Given the description of an element on the screen output the (x, y) to click on. 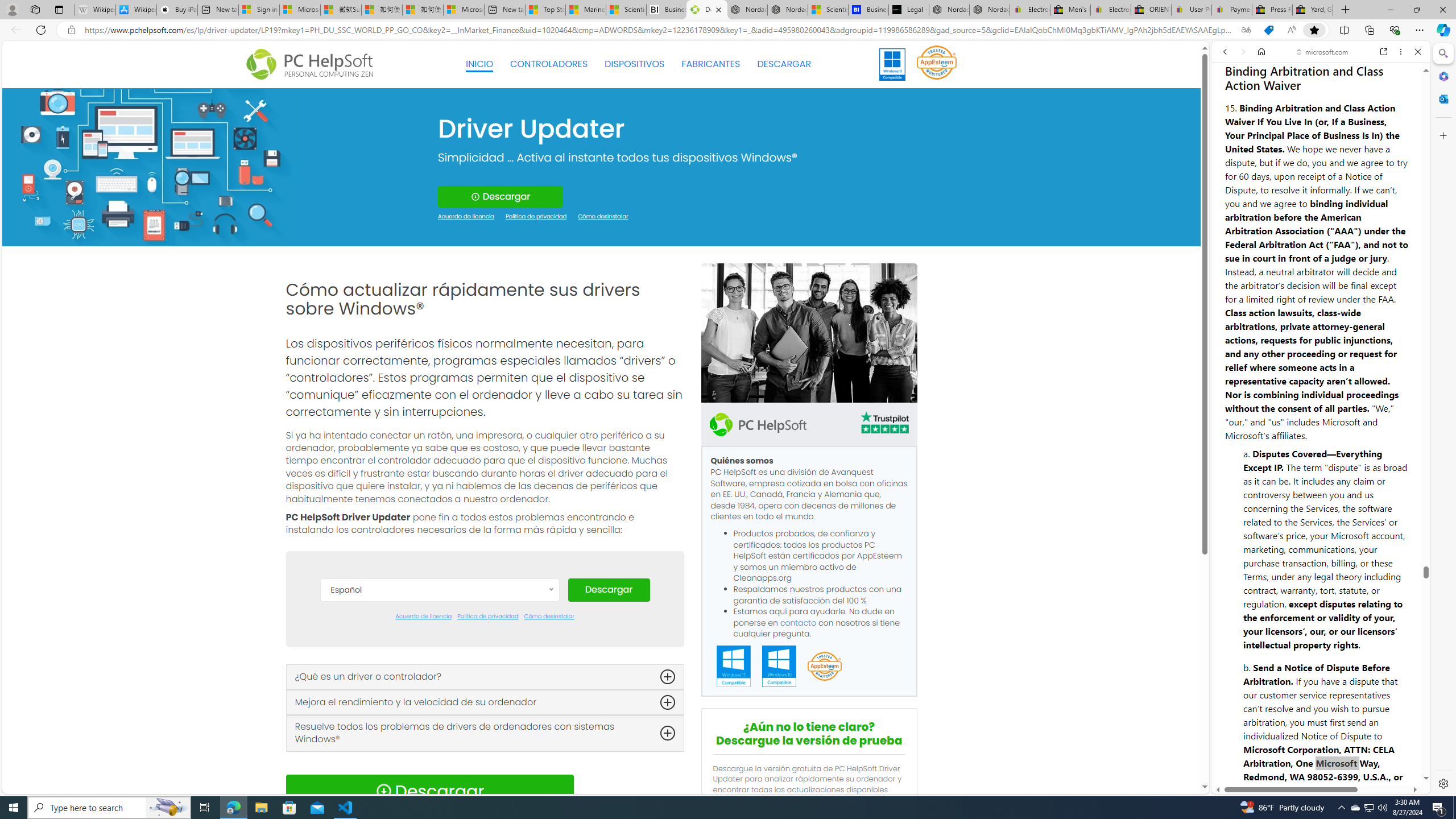
Deutsch (439, 678)
Norsk (439, 780)
FABRICANTES (711, 64)
Windows 11 Compatible (733, 666)
CONTROLADORES (548, 64)
Show translate options (1245, 29)
App Esteem (823, 666)
Generic (150, 166)
TrustPilot (884, 422)
INICIO (479, 64)
